Given the description of an element on the screen output the (x, y) to click on. 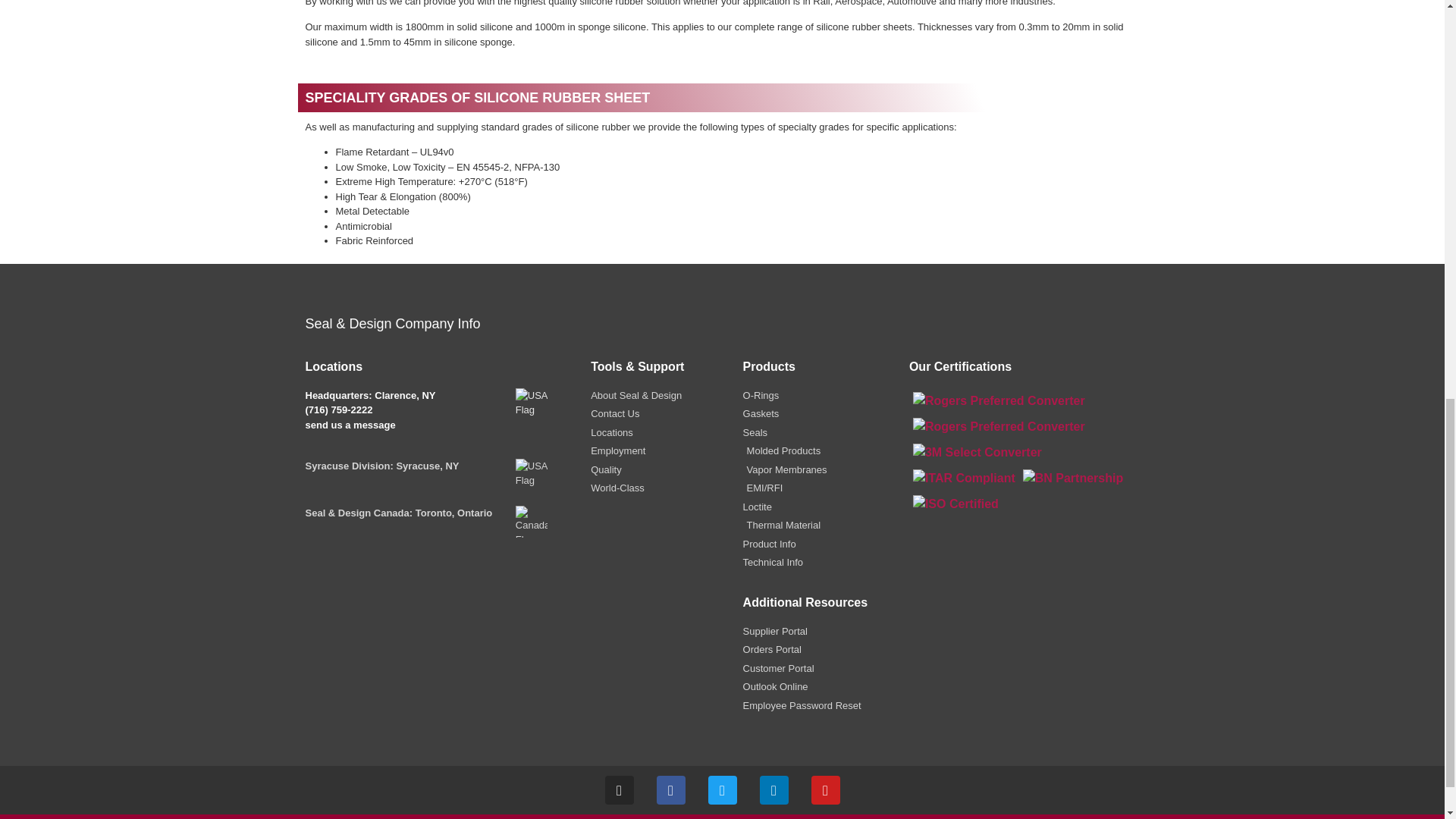
USA Flag (531, 404)
USA Flag (531, 474)
Canada Flag (531, 521)
